Given the description of an element on the screen output the (x, y) to click on. 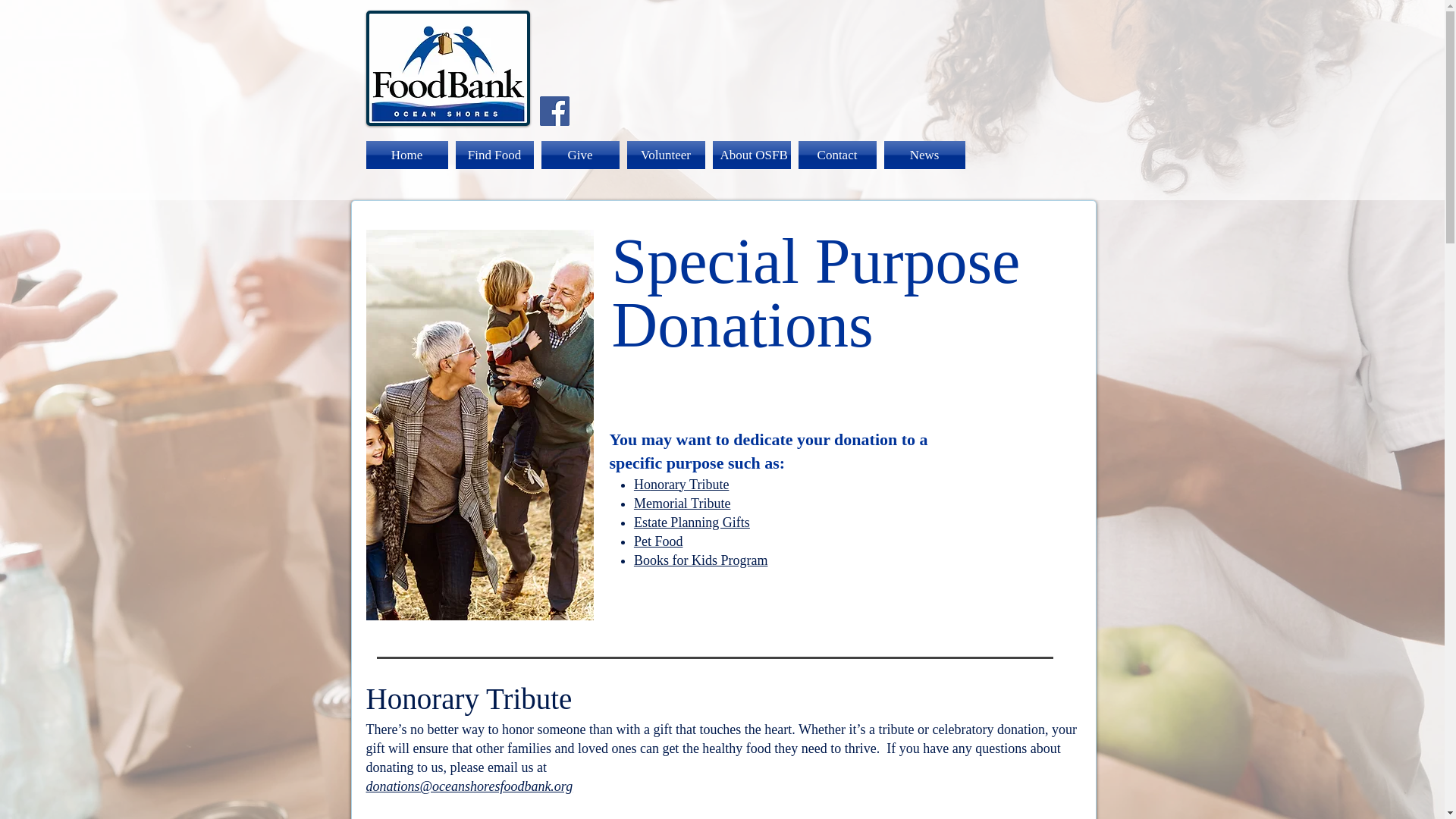
Estate Planning Gifts (691, 522)
Memorial Tribute (681, 503)
Contact (837, 154)
Honorary Tribute (681, 484)
Home (408, 154)
Volunteer (666, 154)
News (921, 154)
Pet Food (657, 540)
Books for Kids Program (700, 560)
Find Food (494, 154)
